Given the description of an element on the screen output the (x, y) to click on. 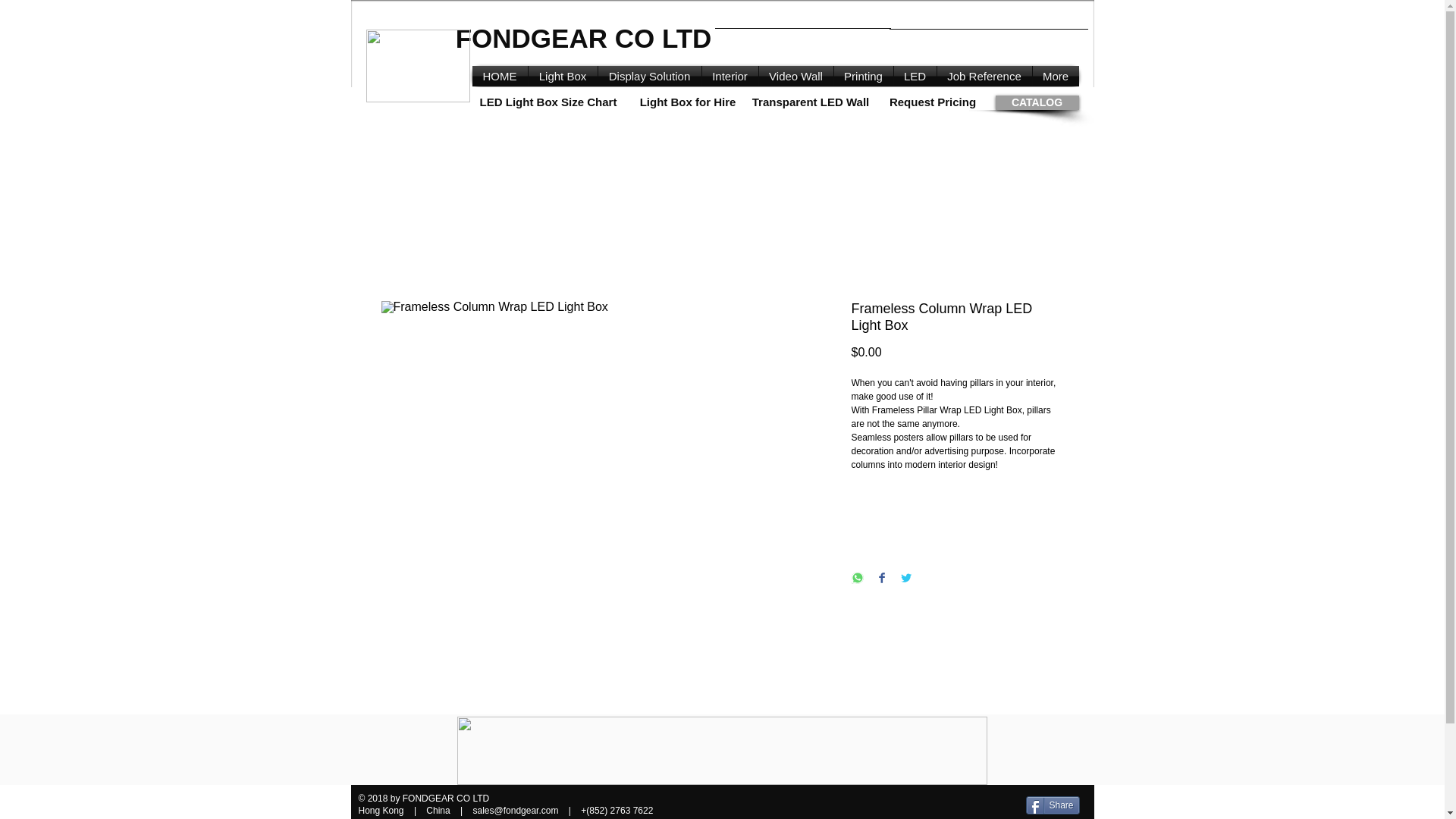
Printing (863, 75)
LED Light Box Size Chart (547, 102)
HOME (499, 75)
Job Reference (984, 75)
Display Solution (648, 75)
Fondgear (416, 65)
Light Box (561, 75)
LED (914, 75)
CATALOG (1036, 102)
Video Wall (795, 75)
